Given the description of an element on the screen output the (x, y) to click on. 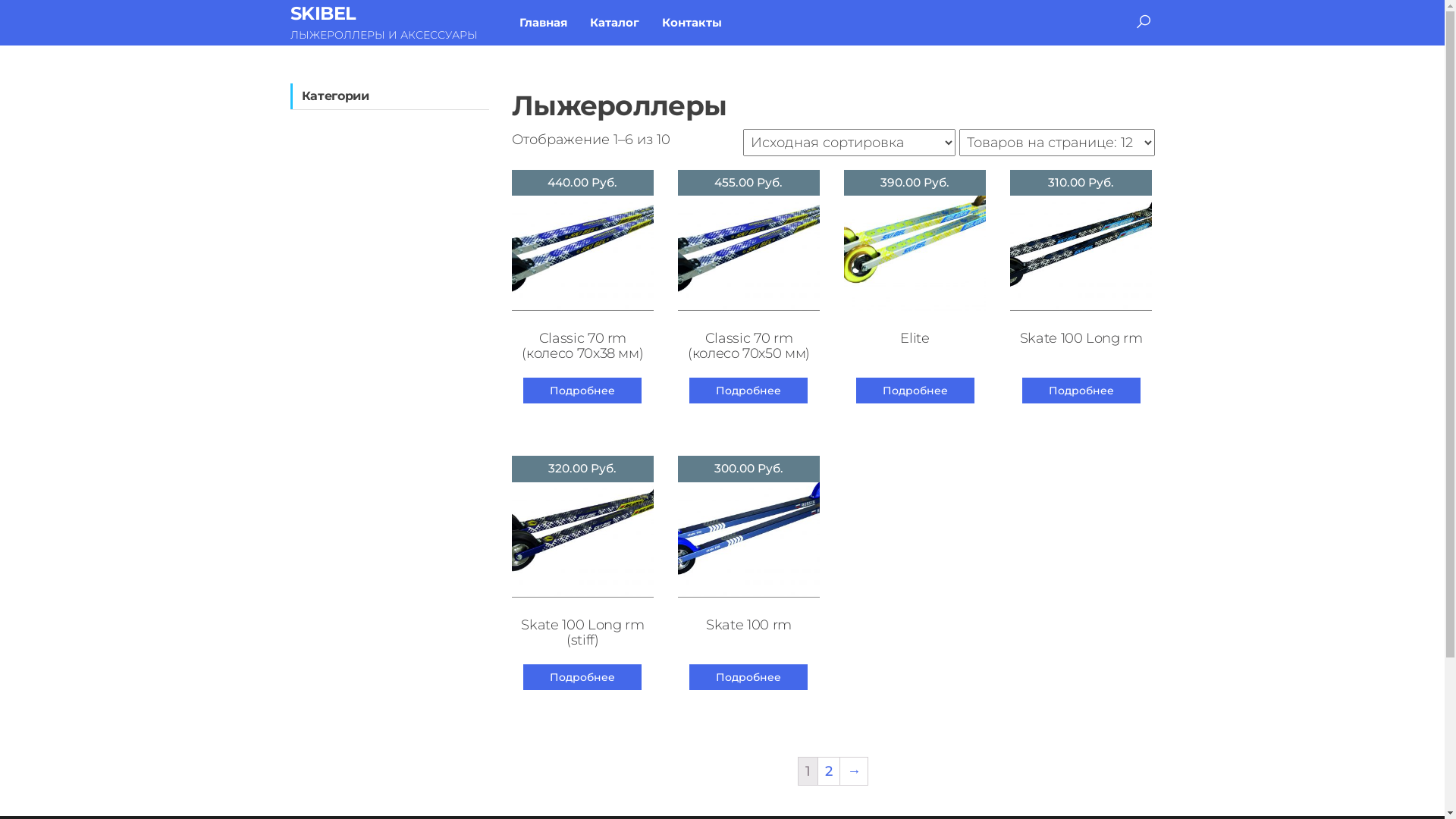
SKIBEL Element type: text (322, 13)
2 Element type: text (828, 770)
